Given the description of an element on the screen output the (x, y) to click on. 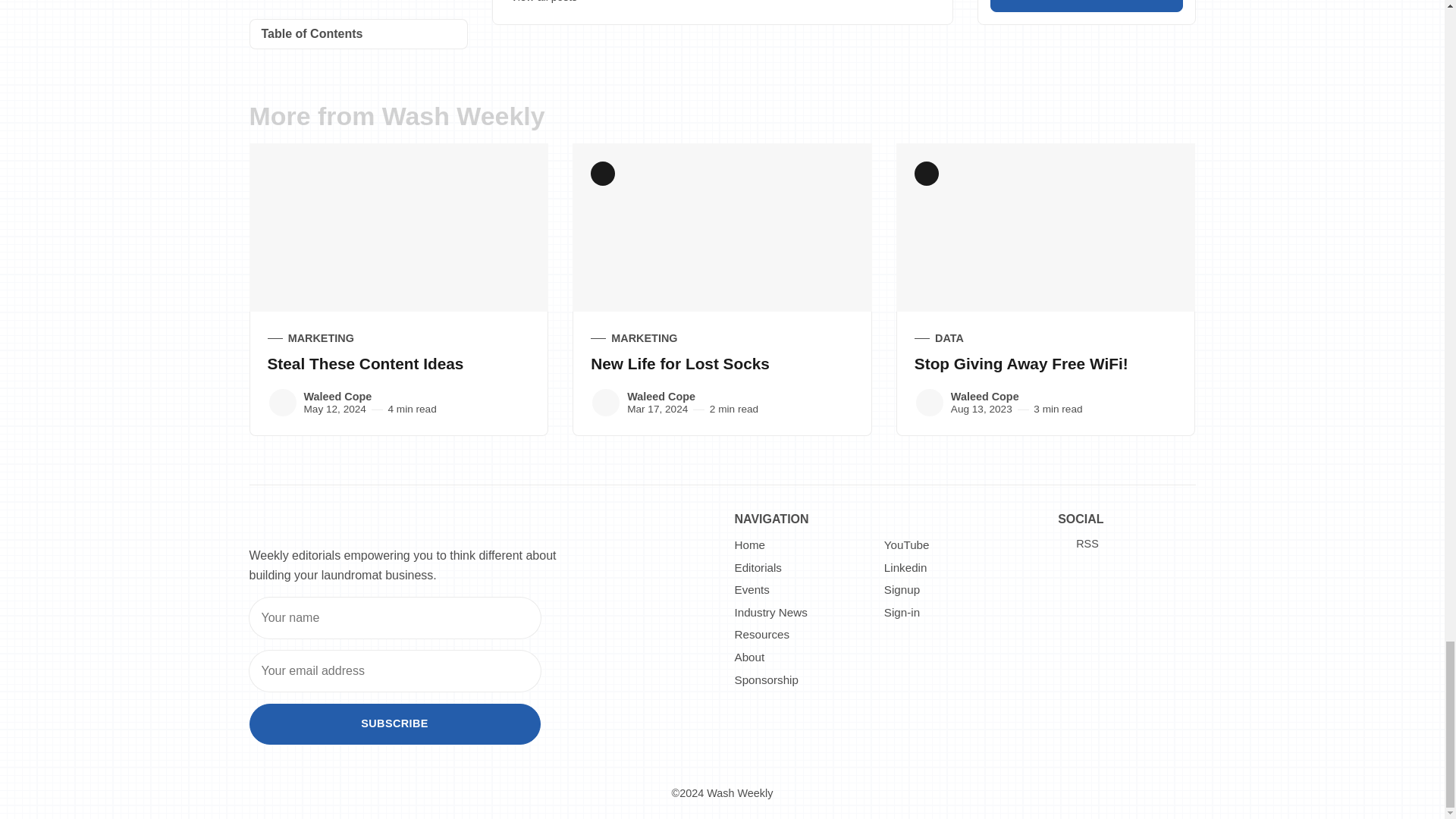
Waleed Cope (606, 402)
Waleed Cope (929, 402)
Waleed Cope (281, 402)
